Given the description of an element on the screen output the (x, y) to click on. 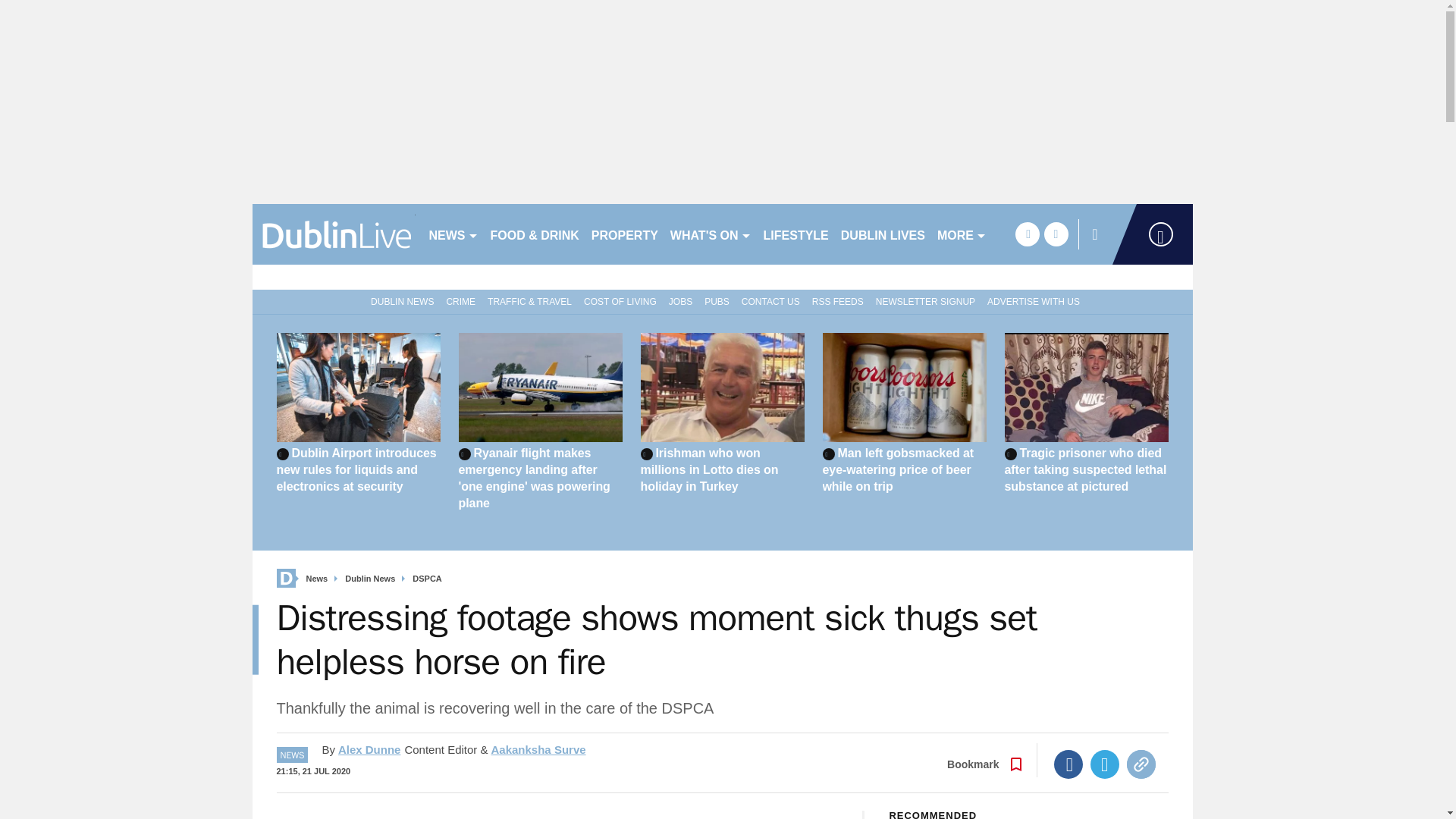
WHAT'S ON (710, 233)
LIFESTYLE (795, 233)
twitter (1055, 233)
PROPERTY (624, 233)
facebook (1026, 233)
dublinlive (332, 233)
MORE (961, 233)
Twitter (1104, 764)
Facebook (1068, 764)
NEWS (453, 233)
DUBLIN LIVES (882, 233)
